Given the description of an element on the screen output the (x, y) to click on. 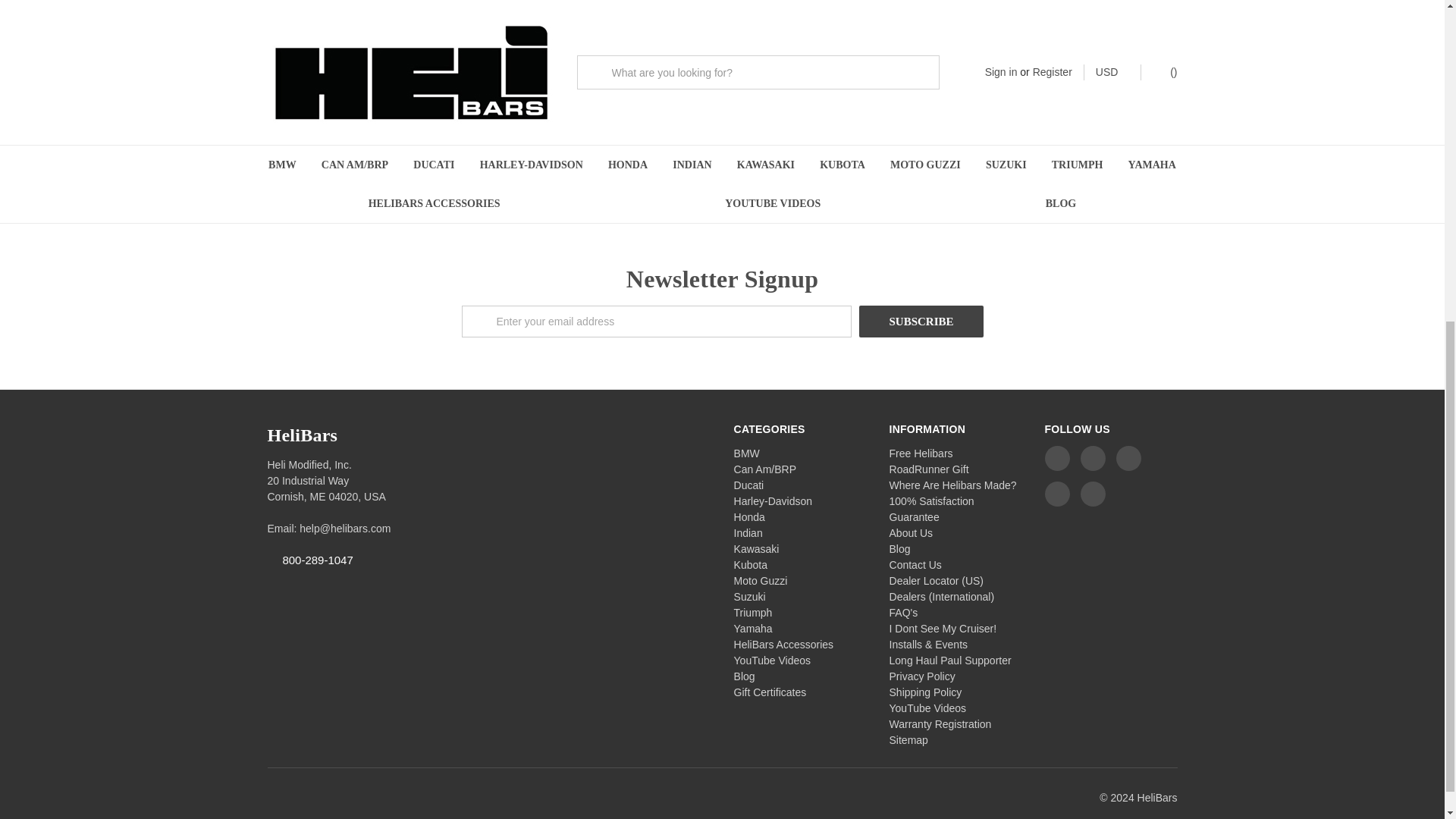
Subscribe (920, 321)
